Given the description of an element on the screen output the (x, y) to click on. 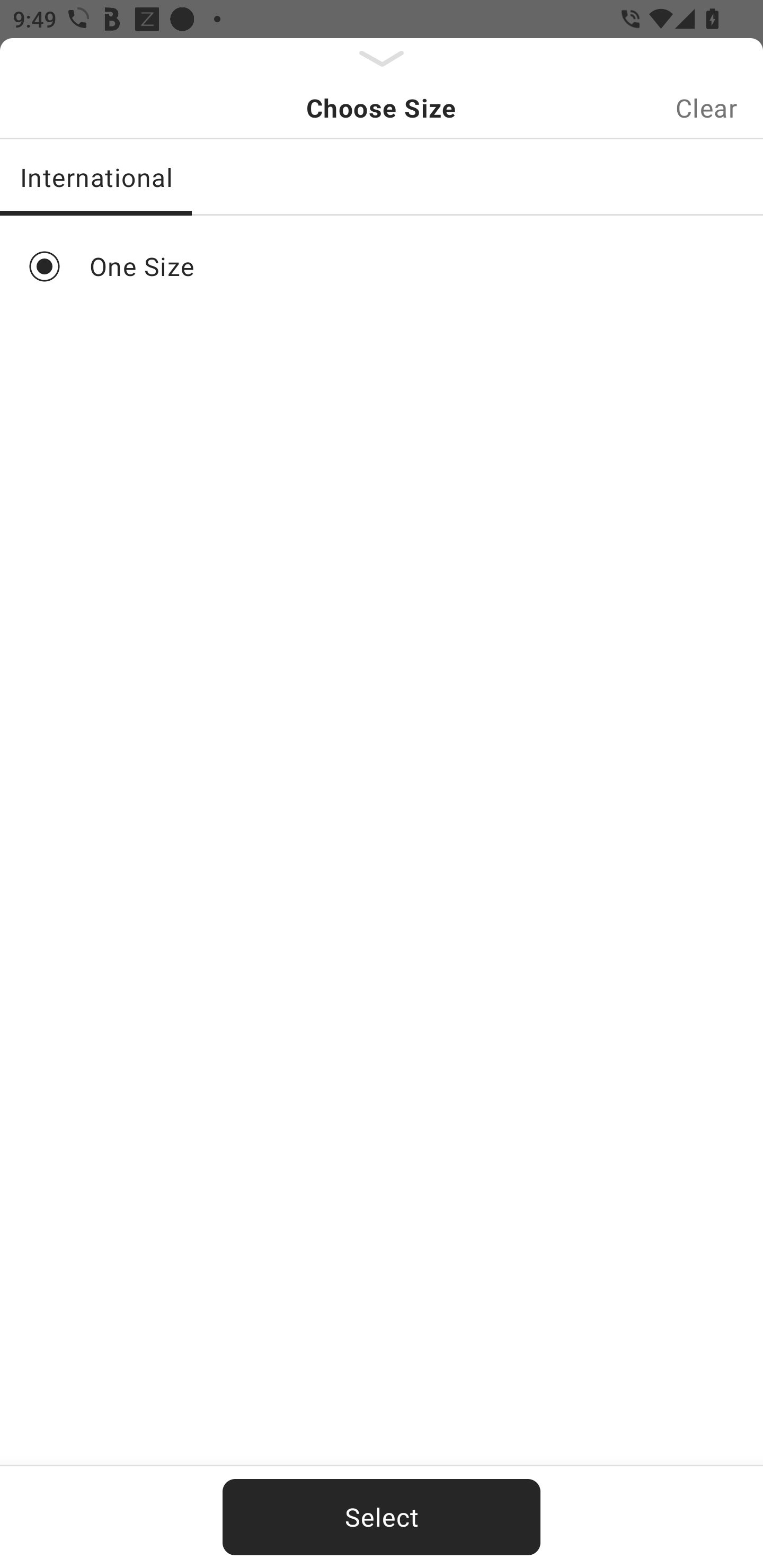
Clear (706, 107)
One Size (381, 266)
Select (381, 1516)
